Given the description of an element on the screen output the (x, y) to click on. 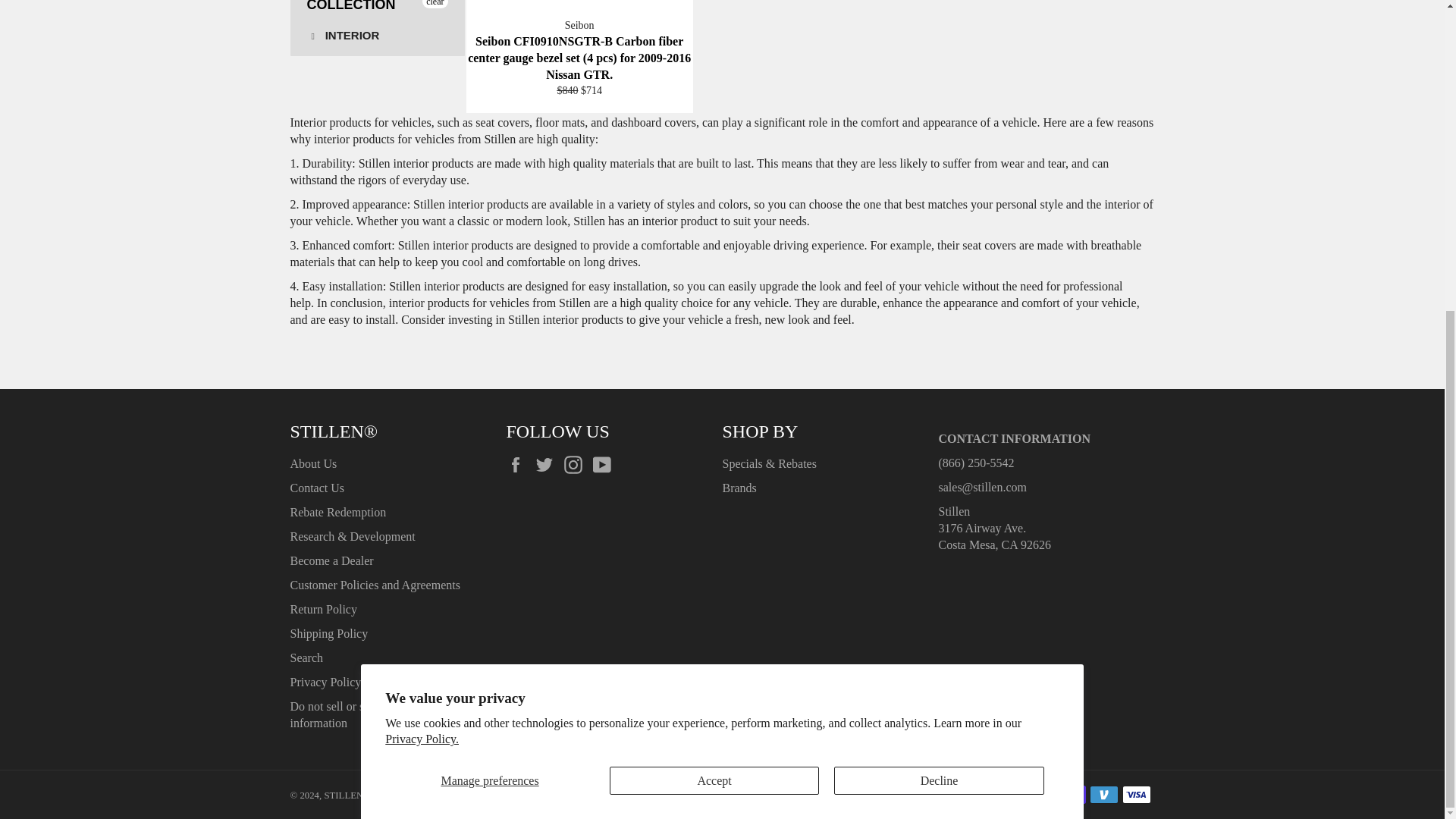
Privacy Policy. (421, 244)
Manage preferences (489, 285)
Decline (938, 285)
Accept (714, 285)
STILLEN on Twitter (547, 464)
STILLEN on YouTube (375, 36)
Clear filter:  INTERIOR (605, 464)
STILLEN on Facebook (344, 35)
STILLEN on Instagram (519, 464)
